Given the description of an element on the screen output the (x, y) to click on. 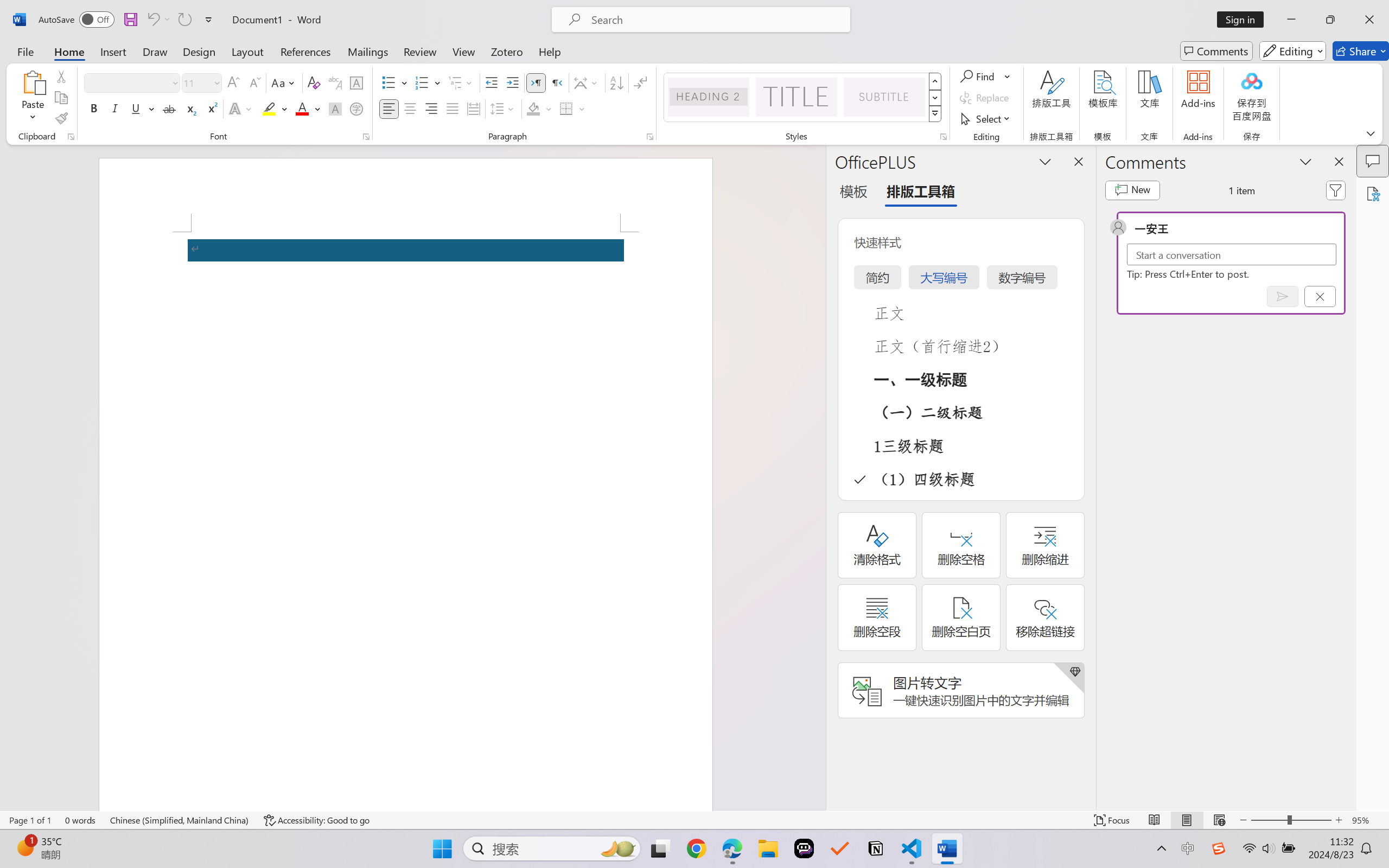
Undo Apply Quick Style Set (152, 19)
Right-to-Left (556, 82)
Shading No Color (533, 108)
Filter (1335, 190)
